Given the description of an element on the screen output the (x, y) to click on. 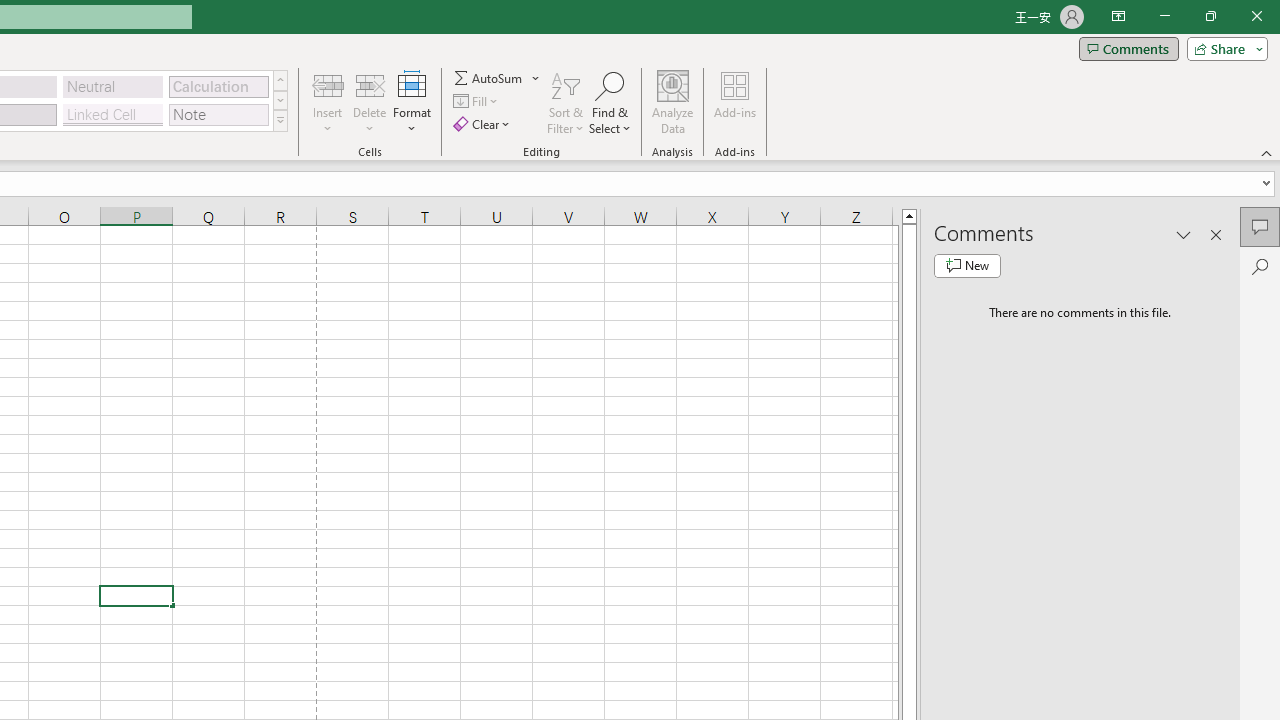
Linked Cell (113, 114)
Cell Styles (280, 120)
Format (411, 102)
AutoSum (497, 78)
Fill (477, 101)
Calculation (218, 86)
